Given the description of an element on the screen output the (x, y) to click on. 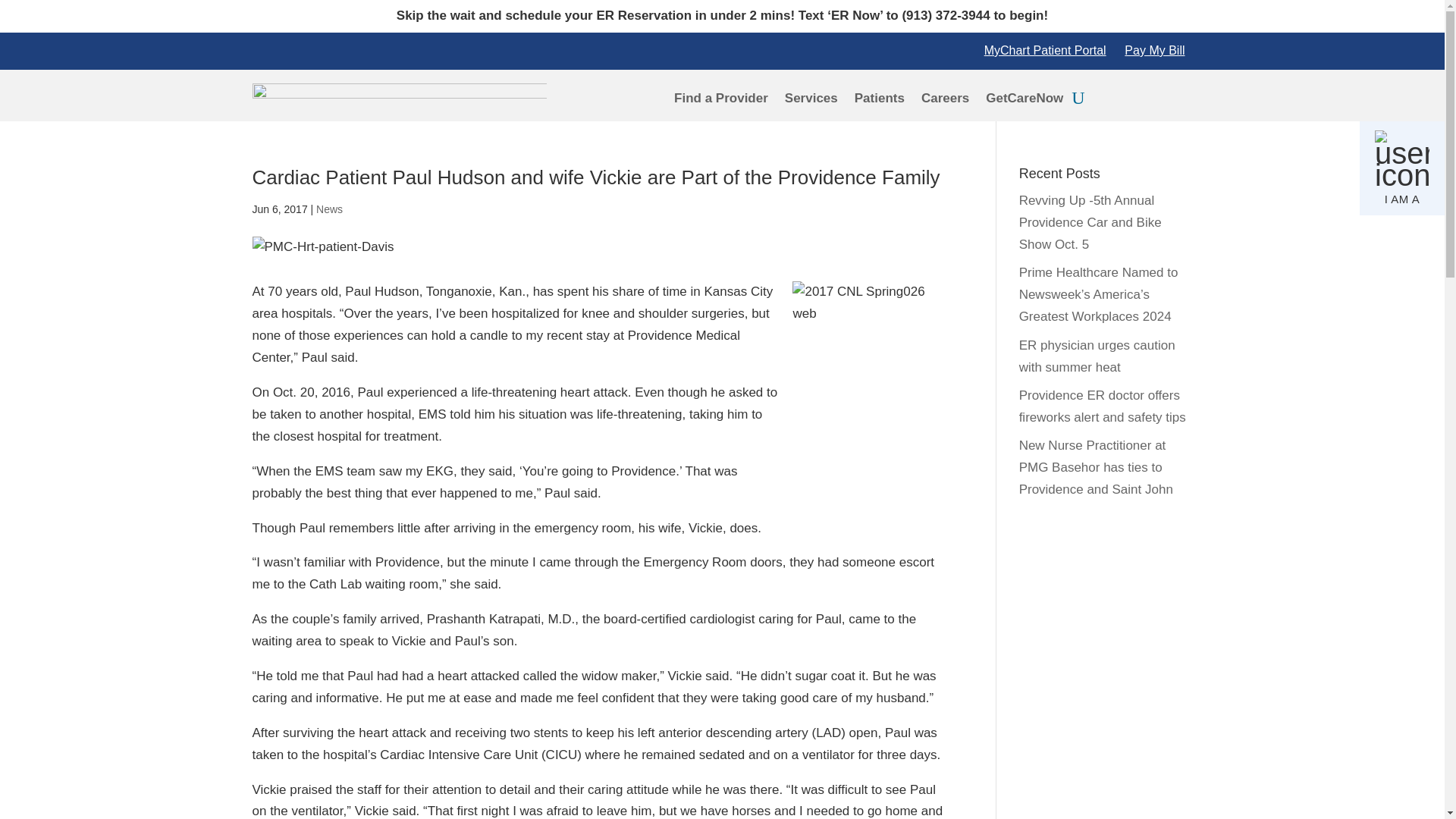
News (328, 209)
ProvidenceMedicalCenter (399, 96)
ER physician urges caution with summer heat (1096, 356)
Providence ER doctor offers fireworks alert and safety tips (1102, 406)
Services (811, 101)
Revving Up -5th Annual Providence Car and Bike Show Oct. 5 (1090, 222)
Patients (879, 101)
Pay My Bill (1154, 50)
MyChart Patient Portal (1044, 50)
